Given the description of an element on the screen output the (x, y) to click on. 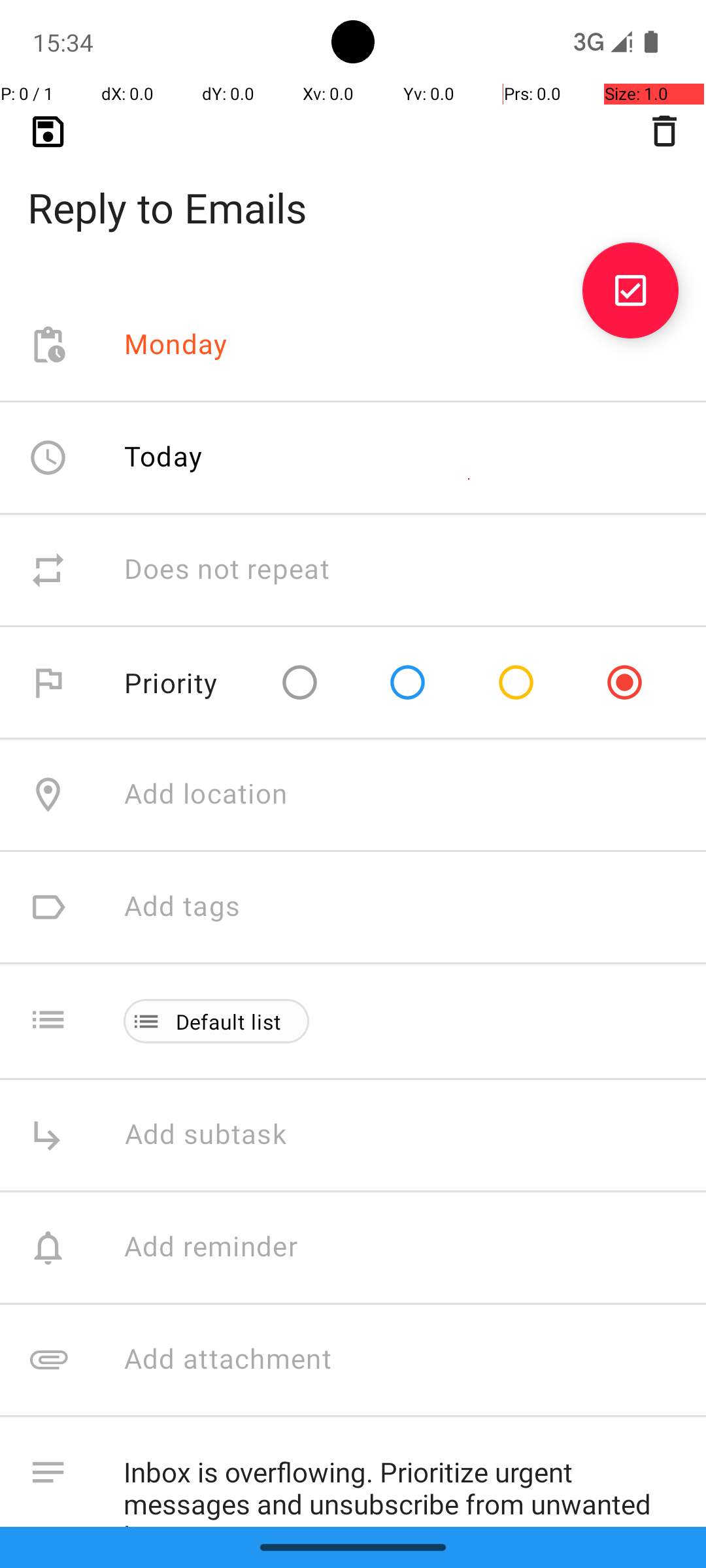
Inbox is overflowing. Prioritize urgent messages and unsubscribe from unwanted lists. Element type: android.widget.EditText (400, 1481)
